Given the description of an element on the screen output the (x, y) to click on. 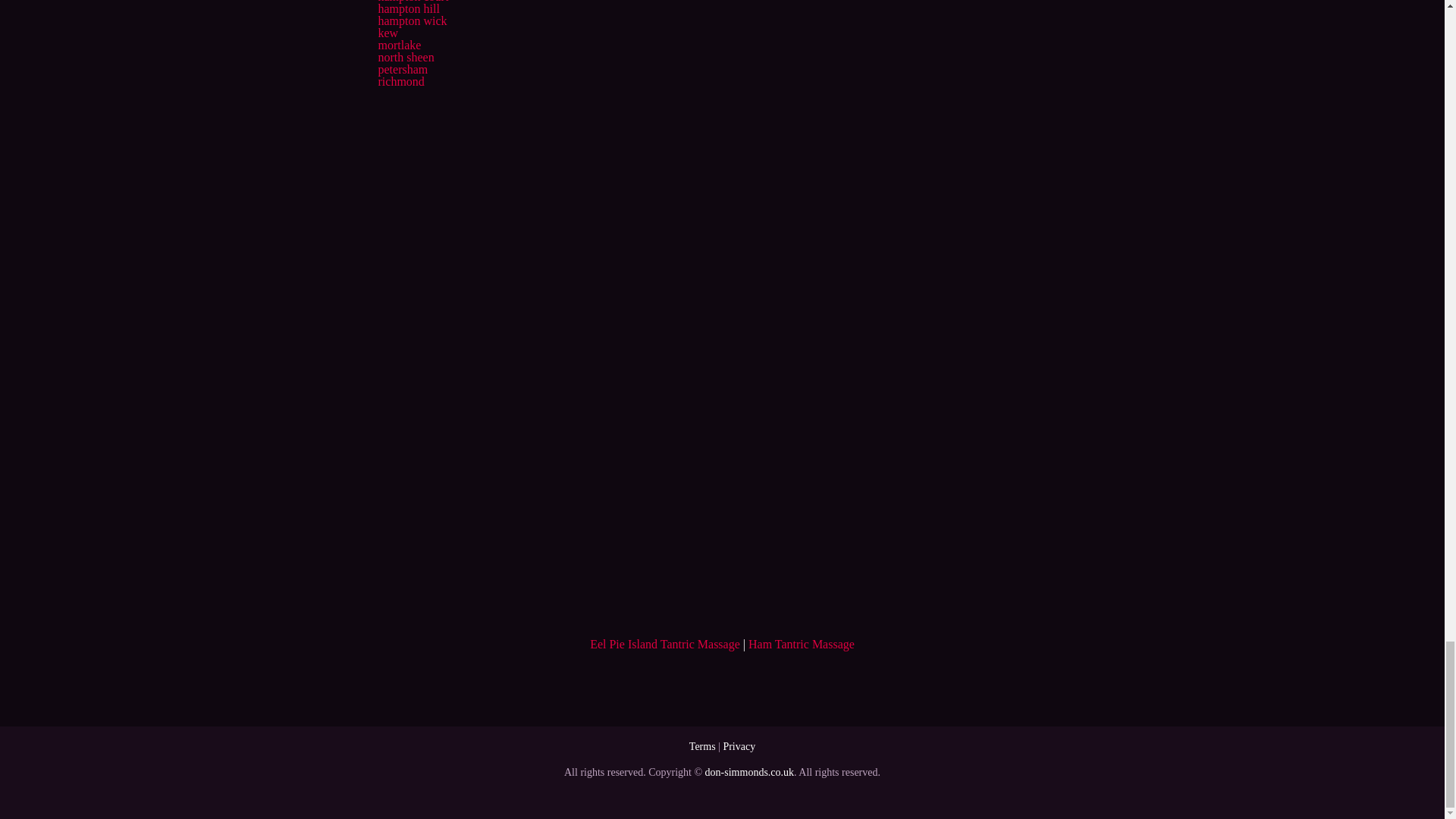
petersham (402, 69)
hampton court (412, 1)
mortlake (398, 44)
north sheen (405, 56)
kew (387, 32)
richmond (400, 81)
hampton hill (408, 8)
Terms (702, 746)
hampton wick (411, 20)
Privacy (738, 746)
